Given the description of an element on the screen output the (x, y) to click on. 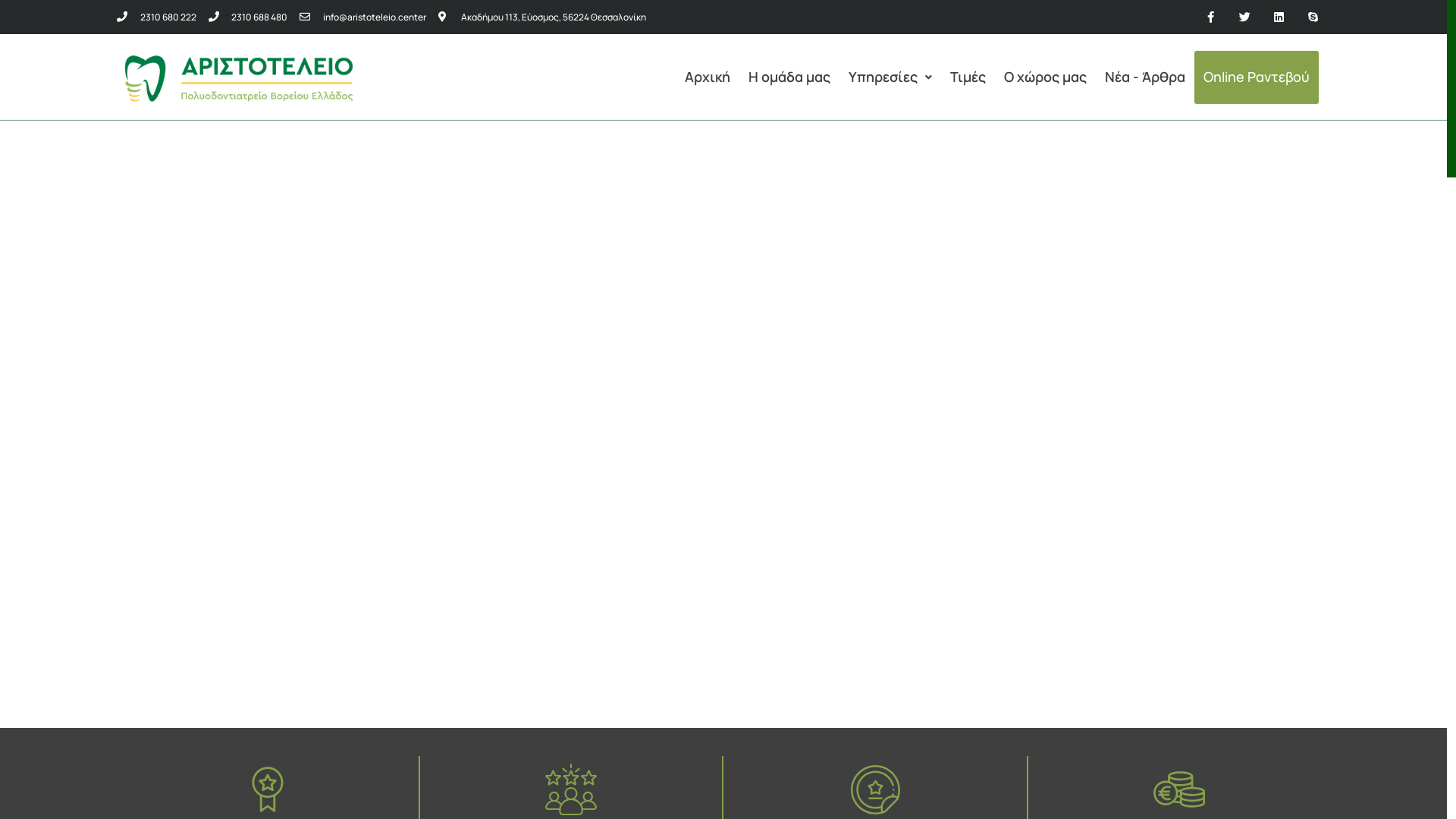
2310 680 222 Element type: text (156, 17)
info@aristoteleio.center Element type: text (362, 17)
2310 688 480 Element type: text (247, 17)
